Given the description of an element on the screen output the (x, y) to click on. 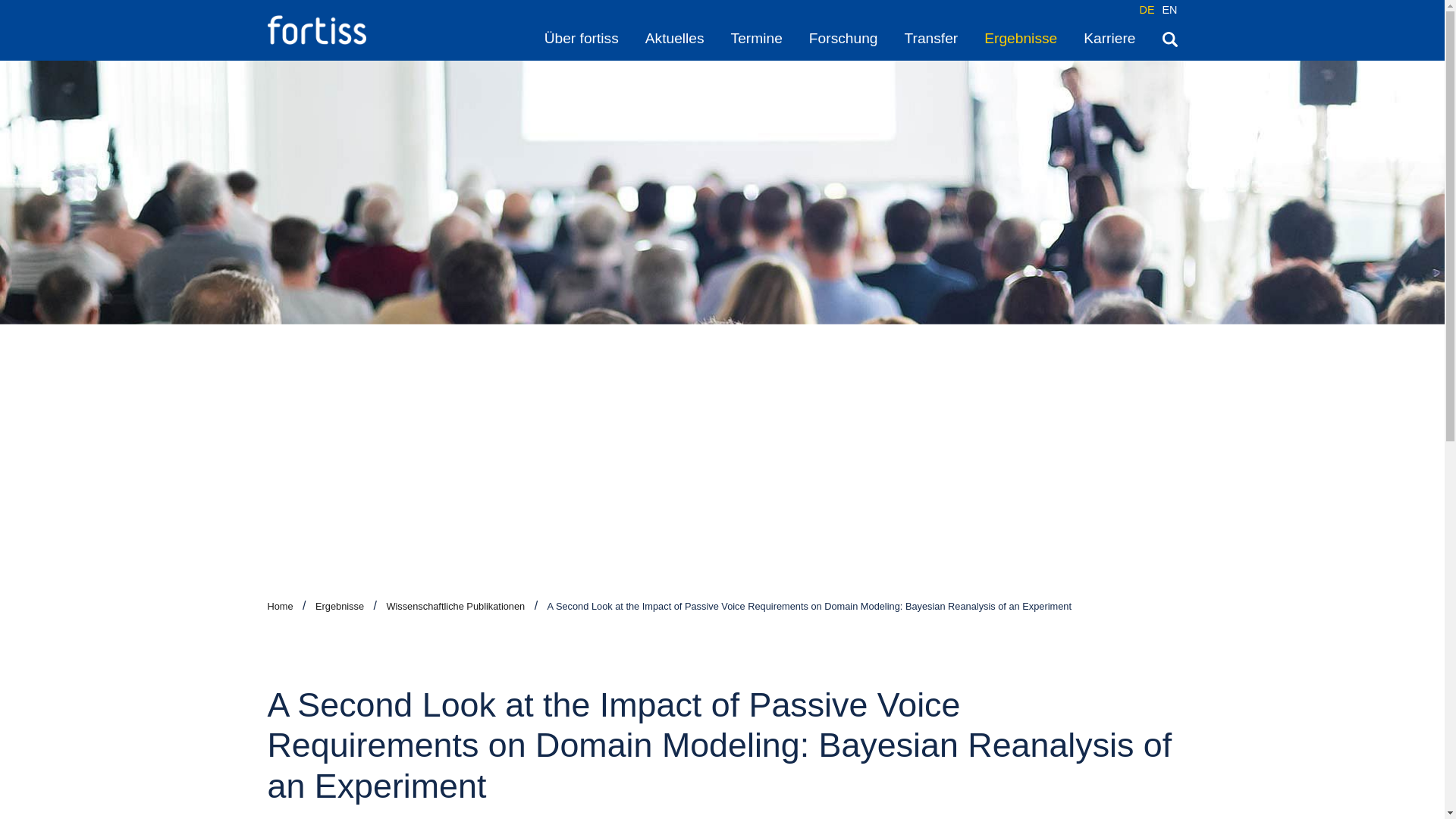
Wissenschaftliche Publikationen (454, 605)
Forschung (843, 38)
Aktuelles (674, 38)
Karriere (1109, 38)
Home (279, 605)
fortiss (315, 30)
DE (1146, 9)
Ergebnisse (1020, 38)
Suche (1168, 38)
Ergebnisse (339, 605)
Transfer (931, 38)
Termine (756, 38)
EN (1168, 9)
